Given the description of an element on the screen output the (x, y) to click on. 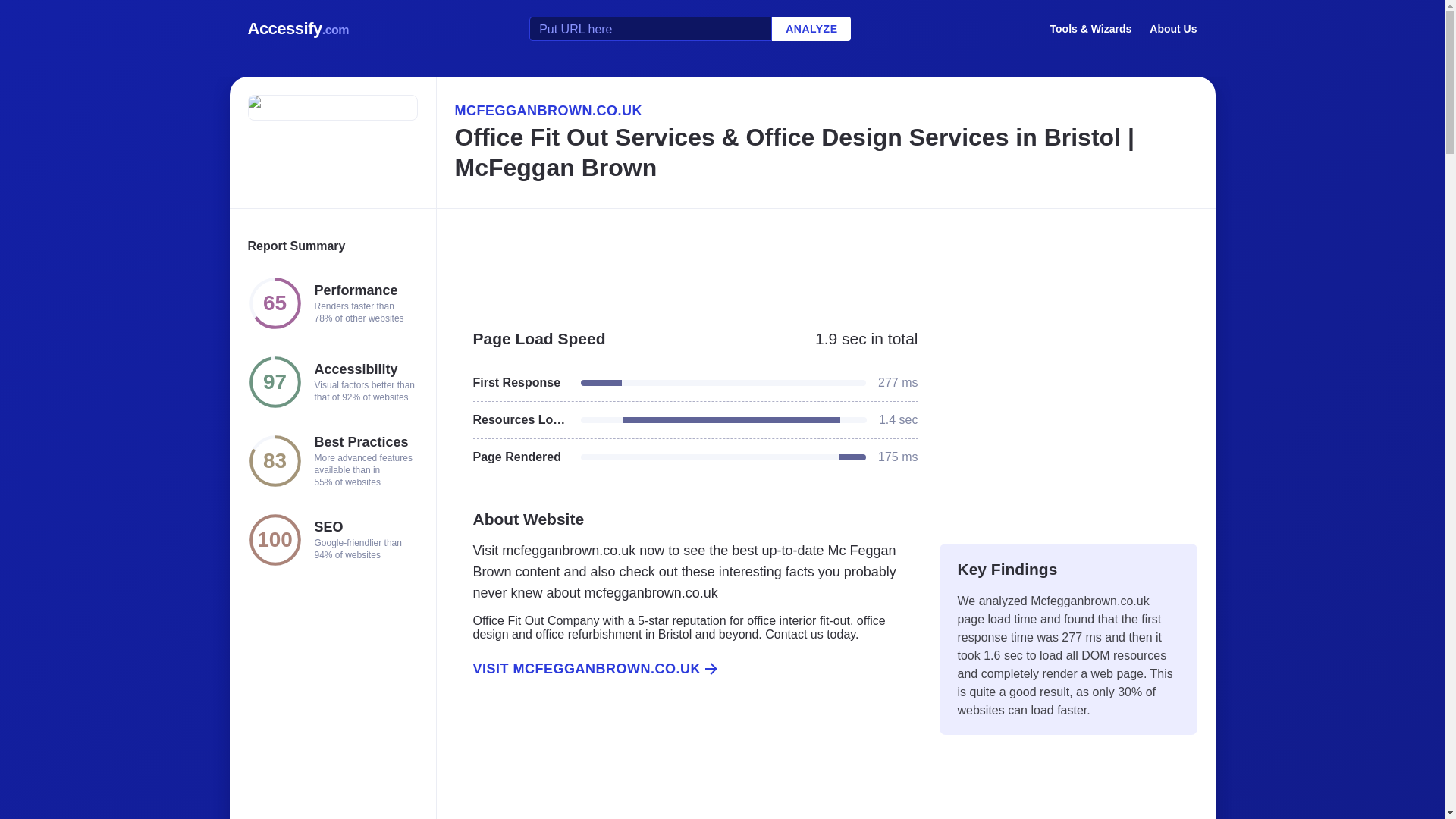
Accessify.com (298, 28)
ANALYZE (810, 28)
About Us (1173, 28)
MCFEGGANBROWN.CO.UK (825, 110)
VISIT MCFEGGANBROWN.CO.UK (686, 669)
